Given the description of an element on the screen output the (x, y) to click on. 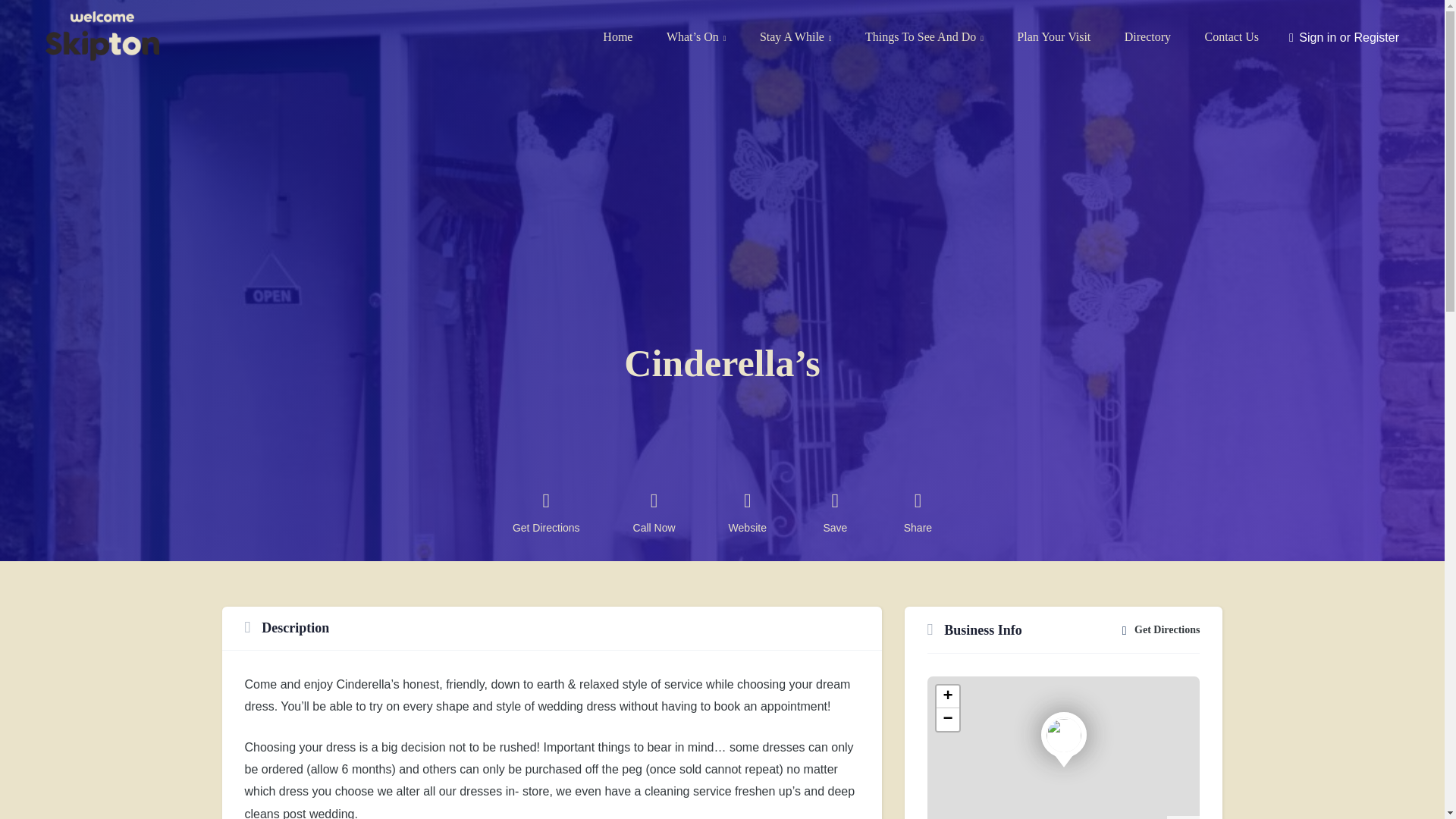
Zoom out (947, 719)
Social Share (917, 517)
Home (616, 36)
Zoom in (947, 696)
Stay A While (795, 36)
A JS library for interactive maps (1182, 818)
Things To See And Do (924, 36)
